Given the description of an element on the screen output the (x, y) to click on. 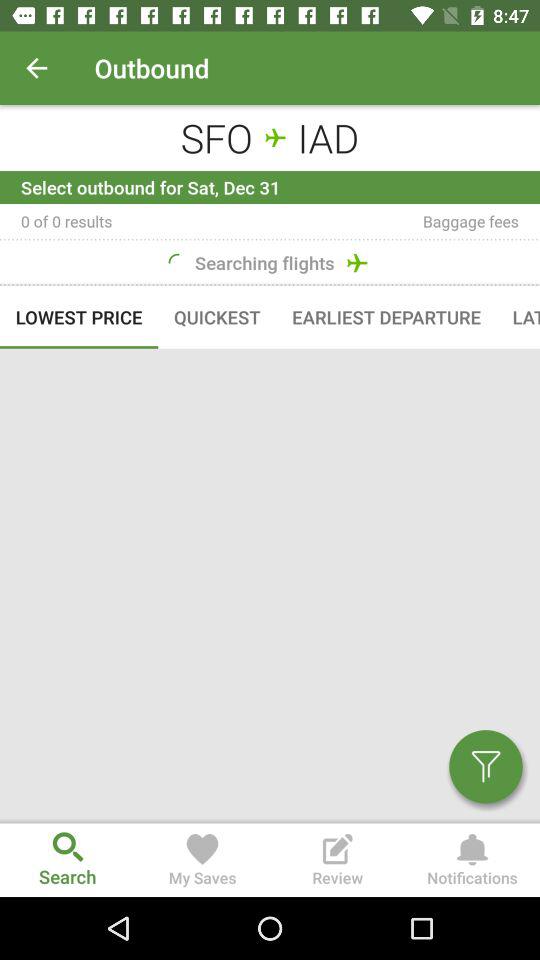
click on the review option (337, 859)
select a text outbound on page (189, 67)
click on text below text outbound (269, 136)
select the filter icon at the bottom (477, 773)
